Given the description of an element on the screen output the (x, y) to click on. 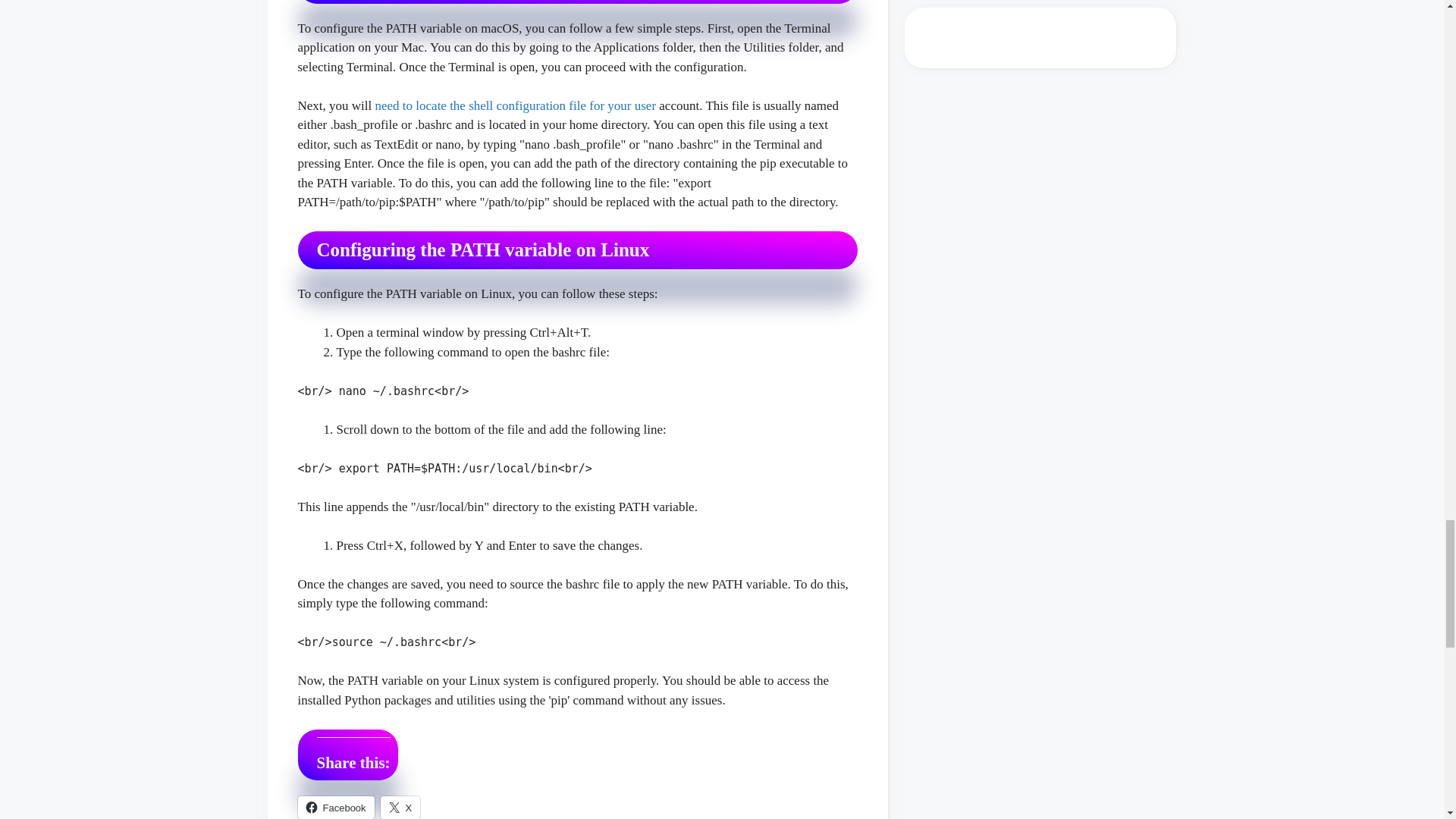
Facebook (335, 807)
X (400, 807)
Click to share on Facebook (335, 807)
Click to share on X (400, 807)
need to locate the shell configuration file for your user (515, 105)
